Given the description of an element on the screen output the (x, y) to click on. 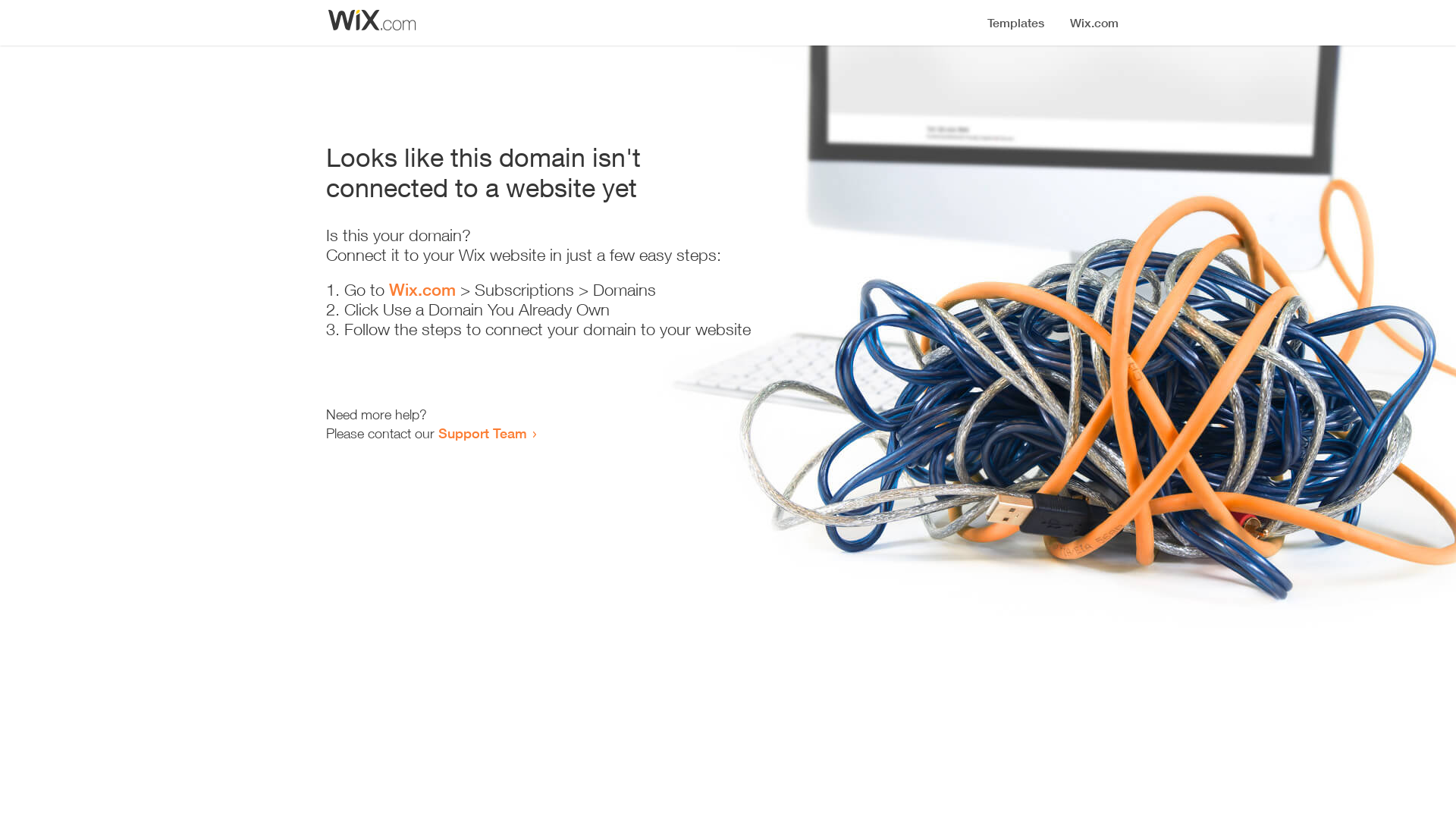
Wix.com Element type: text (422, 289)
Support Team Element type: text (482, 432)
